Given the description of an element on the screen output the (x, y) to click on. 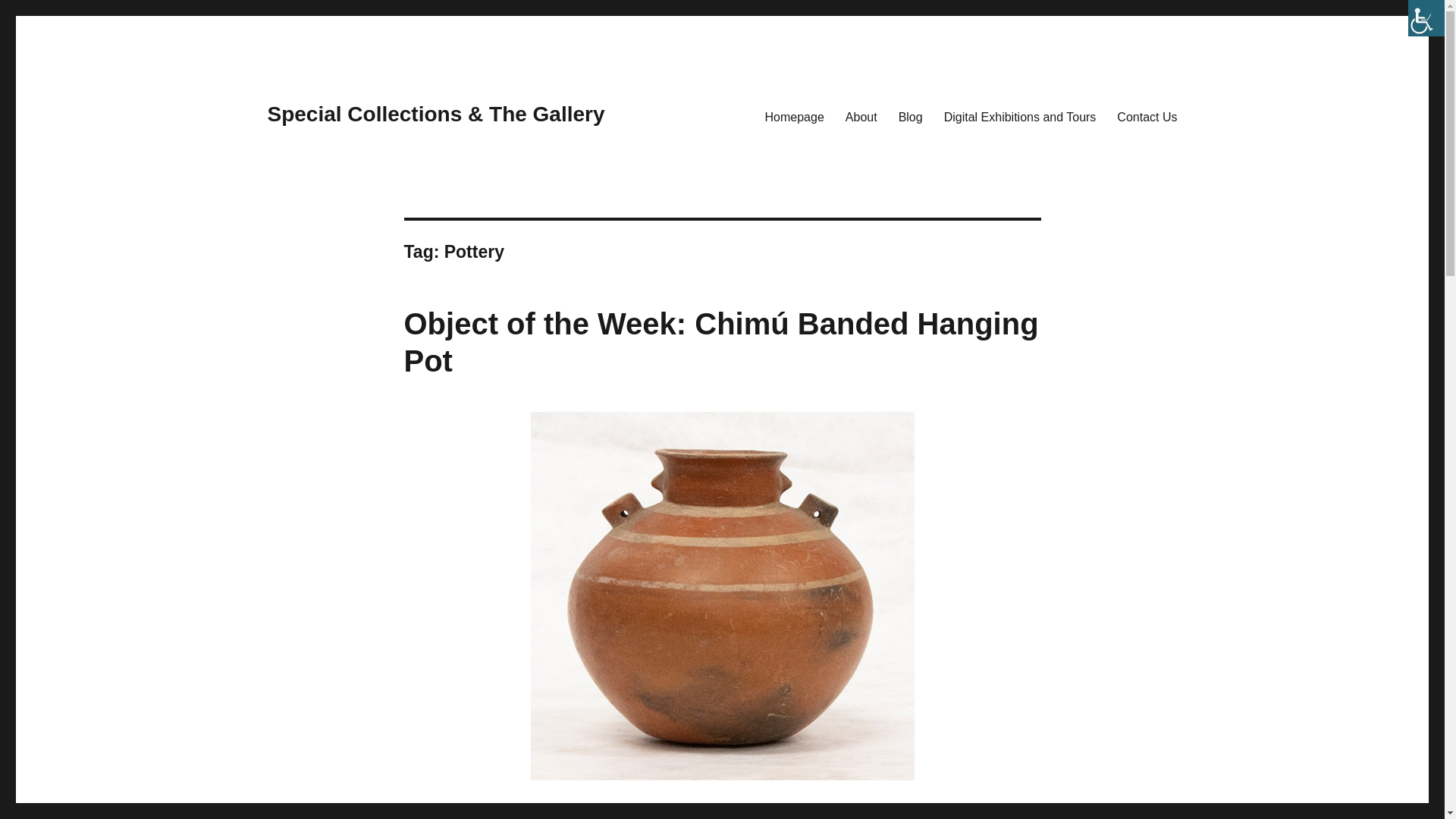
Contact Us (1147, 116)
Homepage (794, 116)
Blog (910, 116)
Digital Exhibitions and Tours (1019, 116)
About (861, 116)
